Given the description of an element on the screen output the (x, y) to click on. 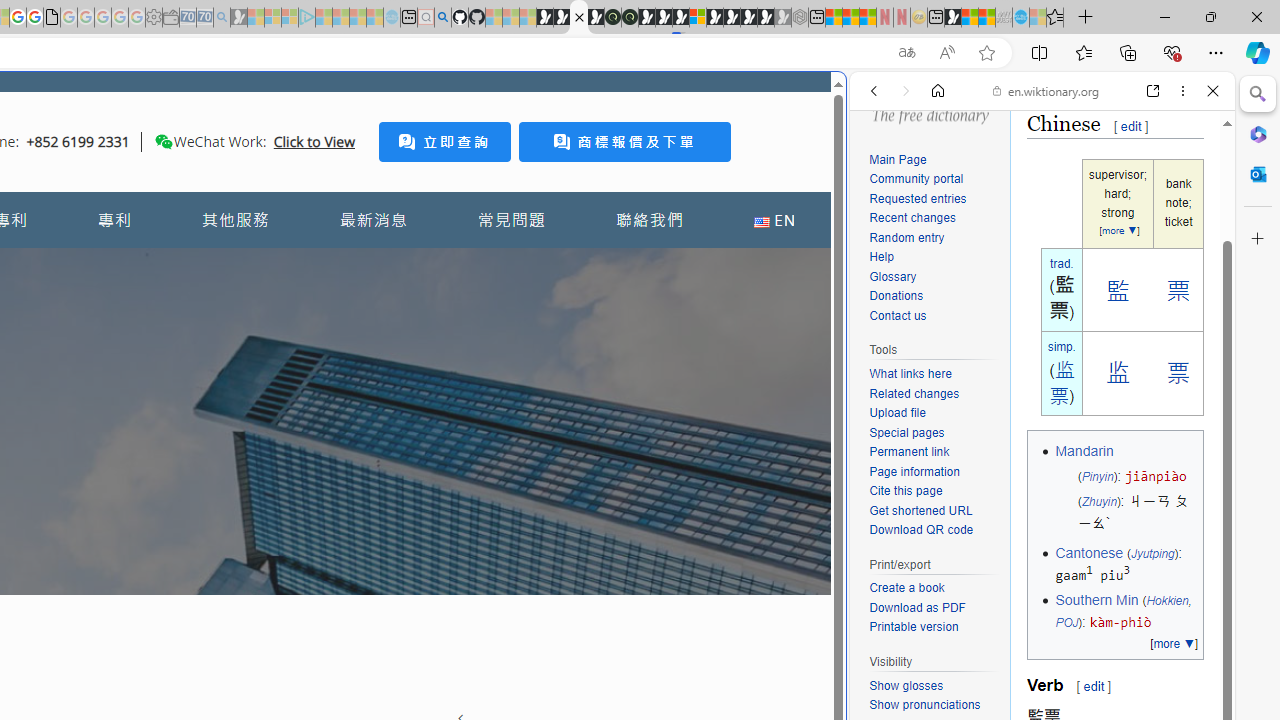
Glossary (934, 277)
VIDEOS (1006, 228)
Show glosses (906, 685)
Donations (934, 296)
Community portal (934, 179)
Play Cave FRVR in your browser | Games from Microsoft Start (343, 426)
Donations (896, 295)
IMAGES (939, 228)
